Given the description of an element on the screen output the (x, y) to click on. 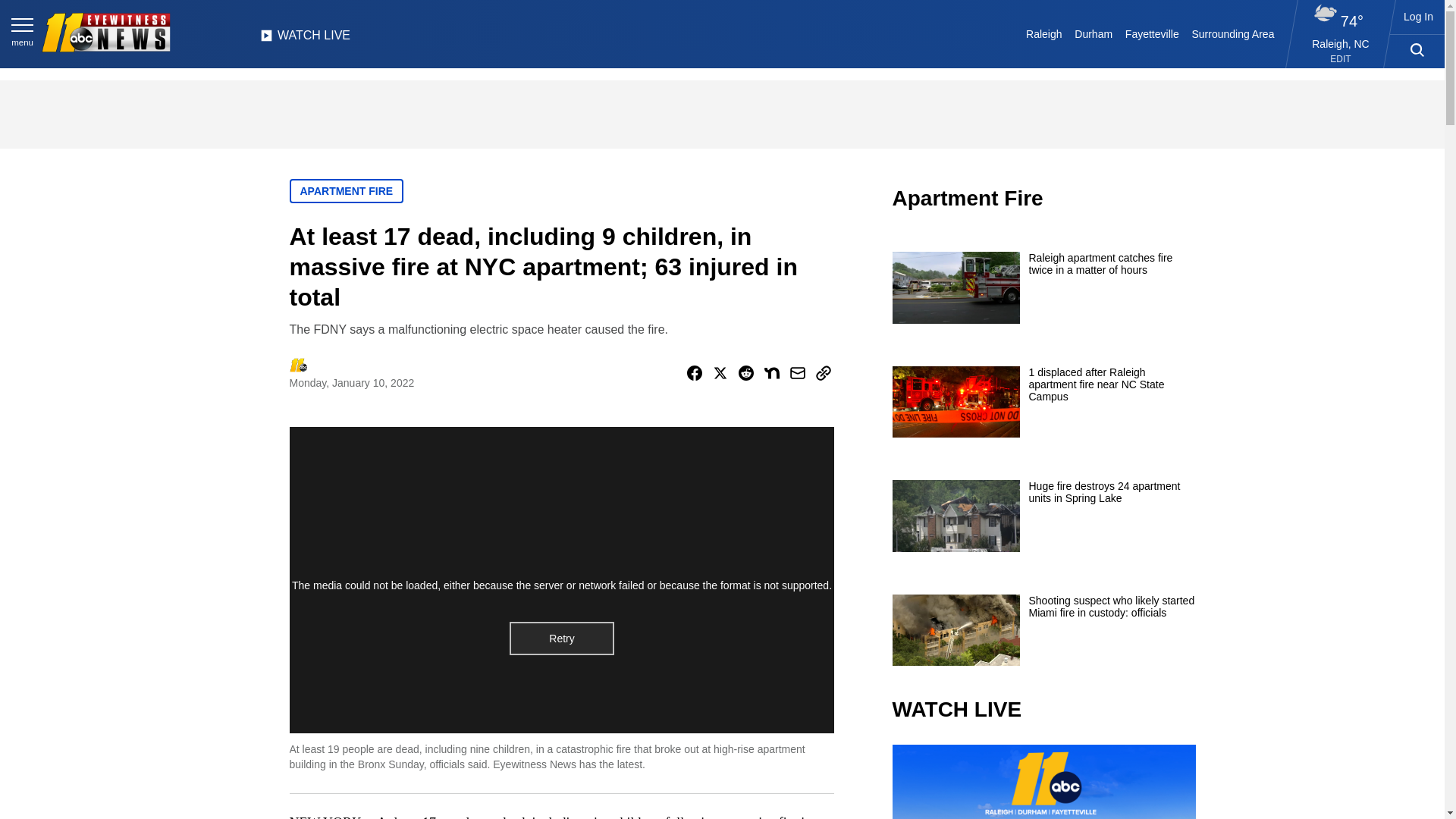
EDIT (1340, 59)
Durham (1093, 33)
Surrounding Area (1233, 33)
Raleigh, NC (1340, 43)
WATCH LIVE (305, 39)
Raleigh (1044, 33)
Fayetteville (1151, 33)
